Given the description of an element on the screen output the (x, y) to click on. 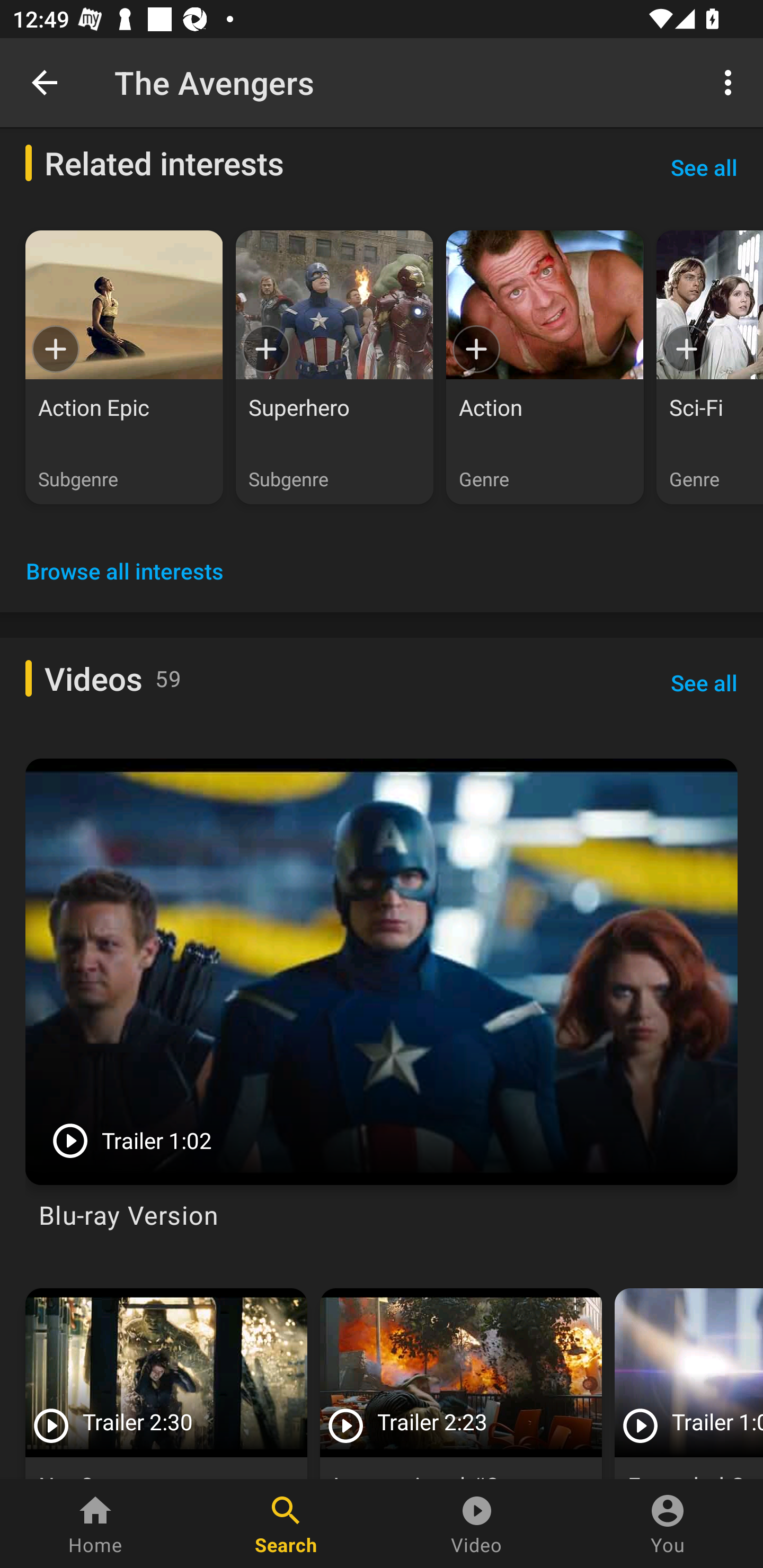
More options (731, 81)
See all See all Related interests (703, 166)
Action Epic Subgenre (123, 367)
Superhero Subgenre (334, 367)
Action Genre (544, 367)
Browse all interests (124, 570)
See all See all Videos (703, 682)
Trailer 1:02 Blu-ray Version (381, 1000)
Trailer 2:30 No. 2 (166, 1383)
Trailer 2:23 International #2 (460, 1383)
Home (95, 1523)
Video (476, 1523)
You (667, 1523)
